Given the description of an element on the screen output the (x, y) to click on. 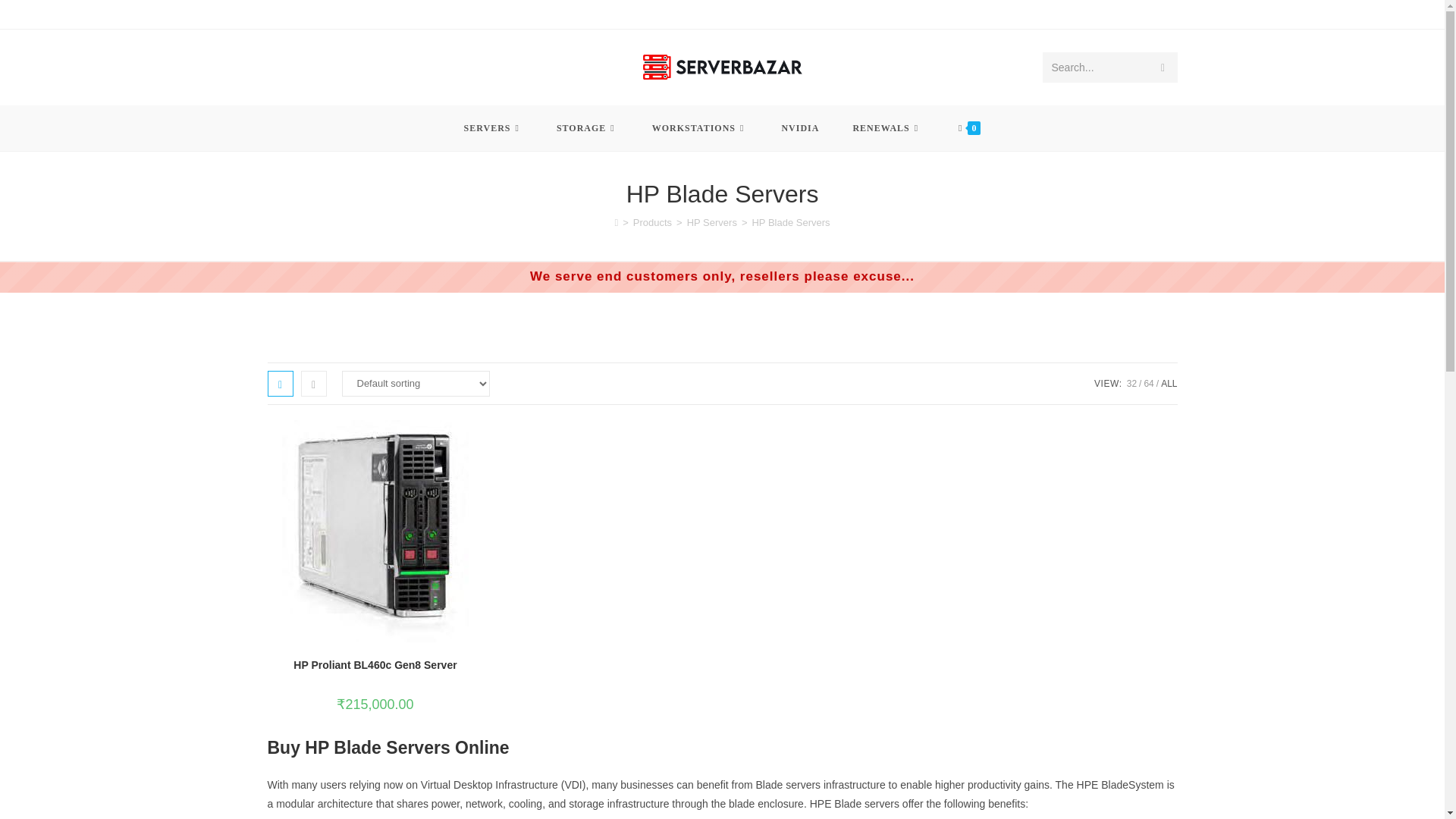
Submit search (1162, 67)
NVIDIA (799, 127)
RENEWALS (887, 127)
SERVERS (493, 127)
STORAGE (587, 127)
List view (312, 383)
Grid view (279, 383)
WORKSTATIONS (699, 127)
